Given the description of an element on the screen output the (x, y) to click on. 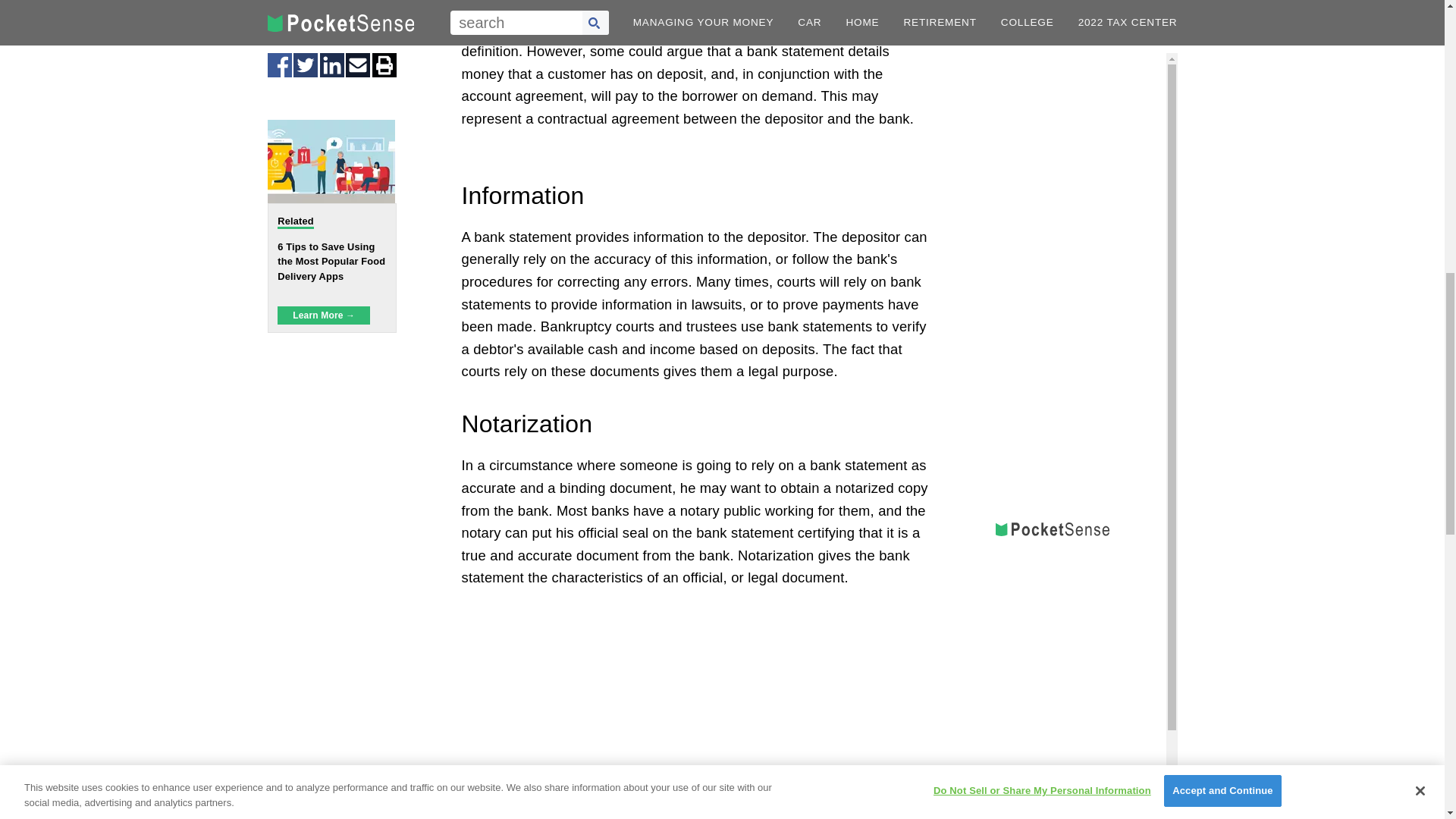
3rd party ad content (1052, 56)
3rd party ad content (695, 708)
